Given the description of an element on the screen output the (x, y) to click on. 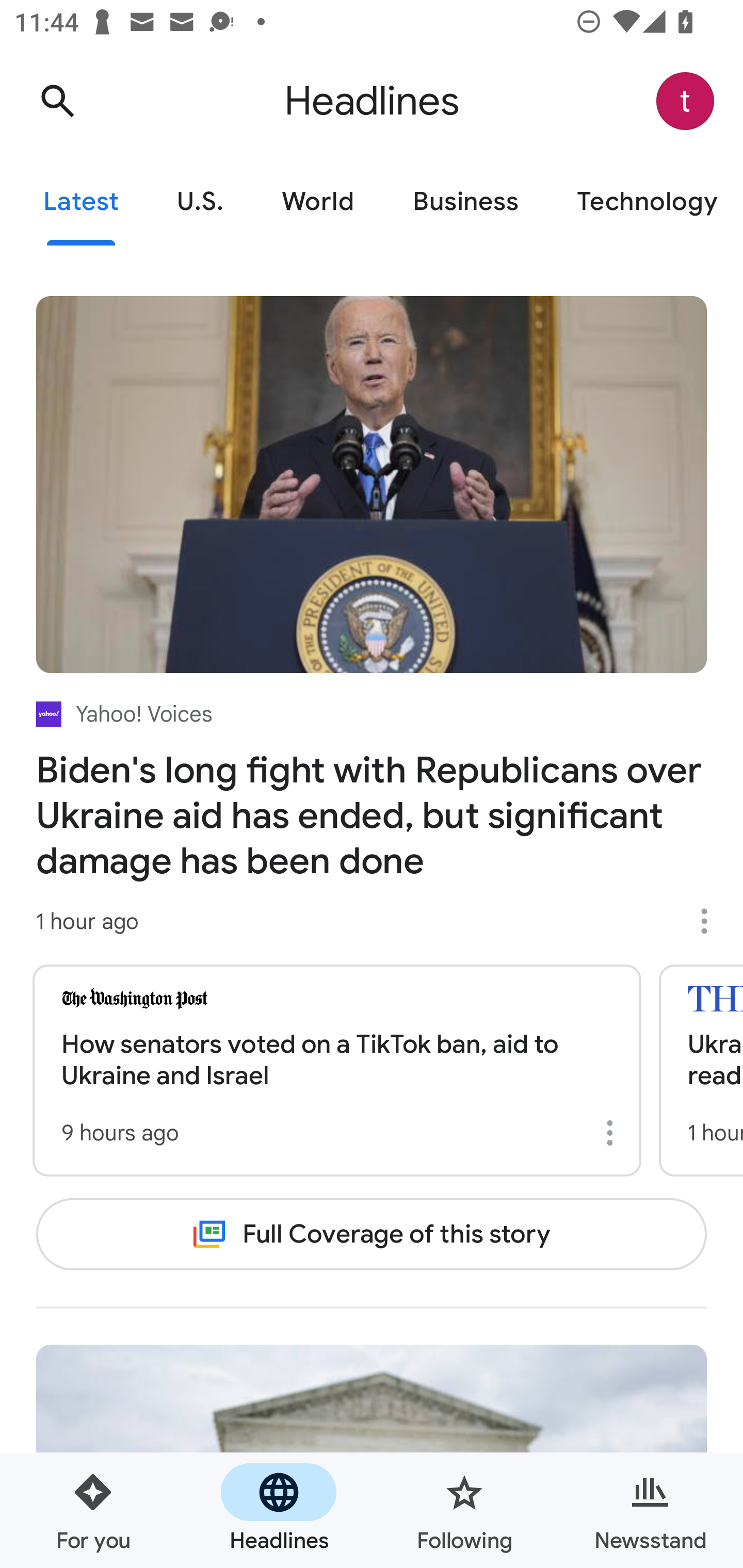
Search (57, 100)
U.S. (199, 202)
World (317, 202)
Business (465, 202)
Technology (645, 202)
More options (711, 921)
More options (613, 1132)
Full Coverage of this story (371, 1233)
For you (92, 1509)
Headlines (278, 1509)
Following (464, 1509)
Newsstand (650, 1509)
